Given the description of an element on the screen output the (x, y) to click on. 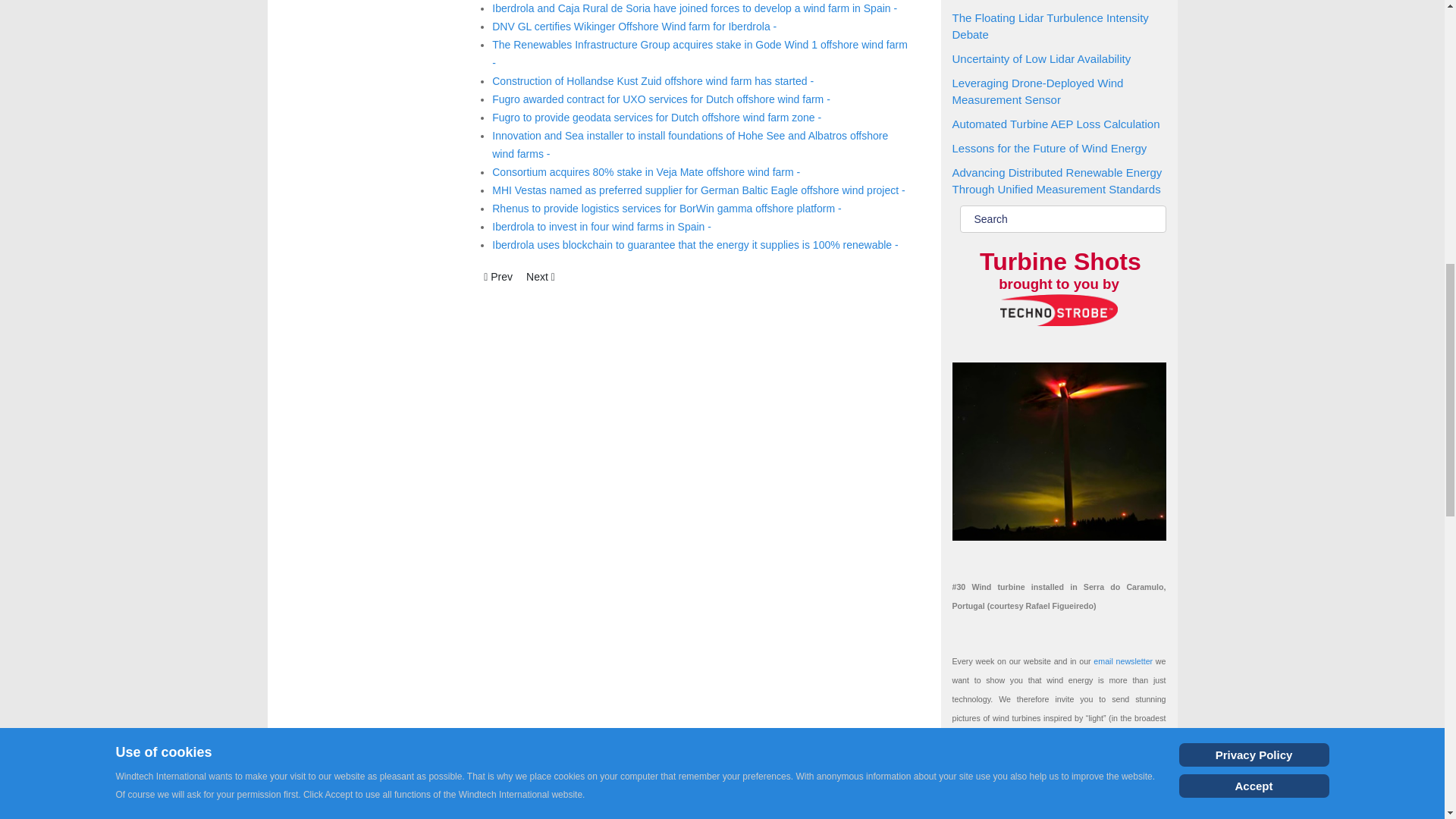
Search (1062, 218)
